Given the description of an element on the screen output the (x, y) to click on. 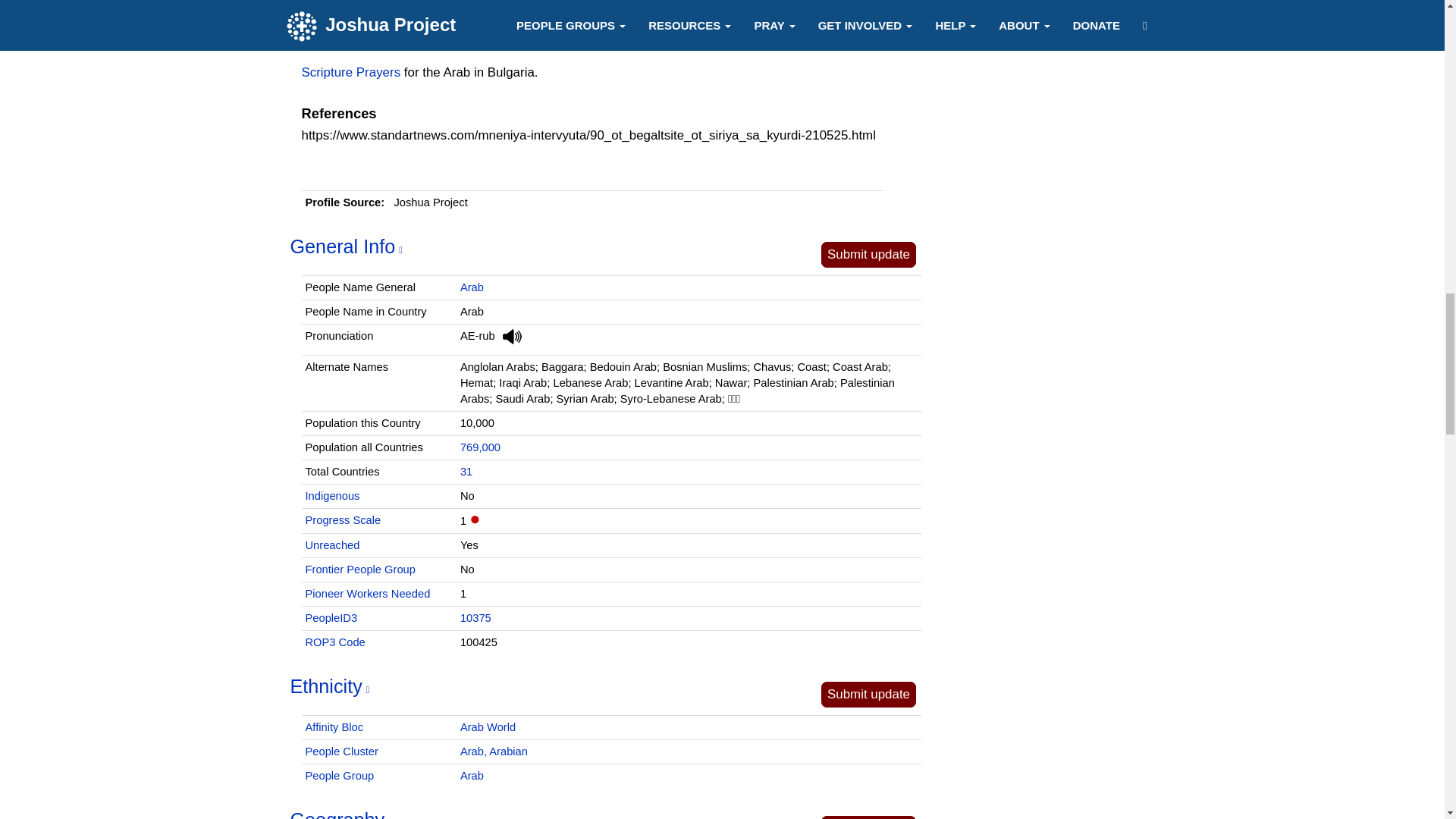
Close All (994, 22)
